Given the description of an element on the screen output the (x, y) to click on. 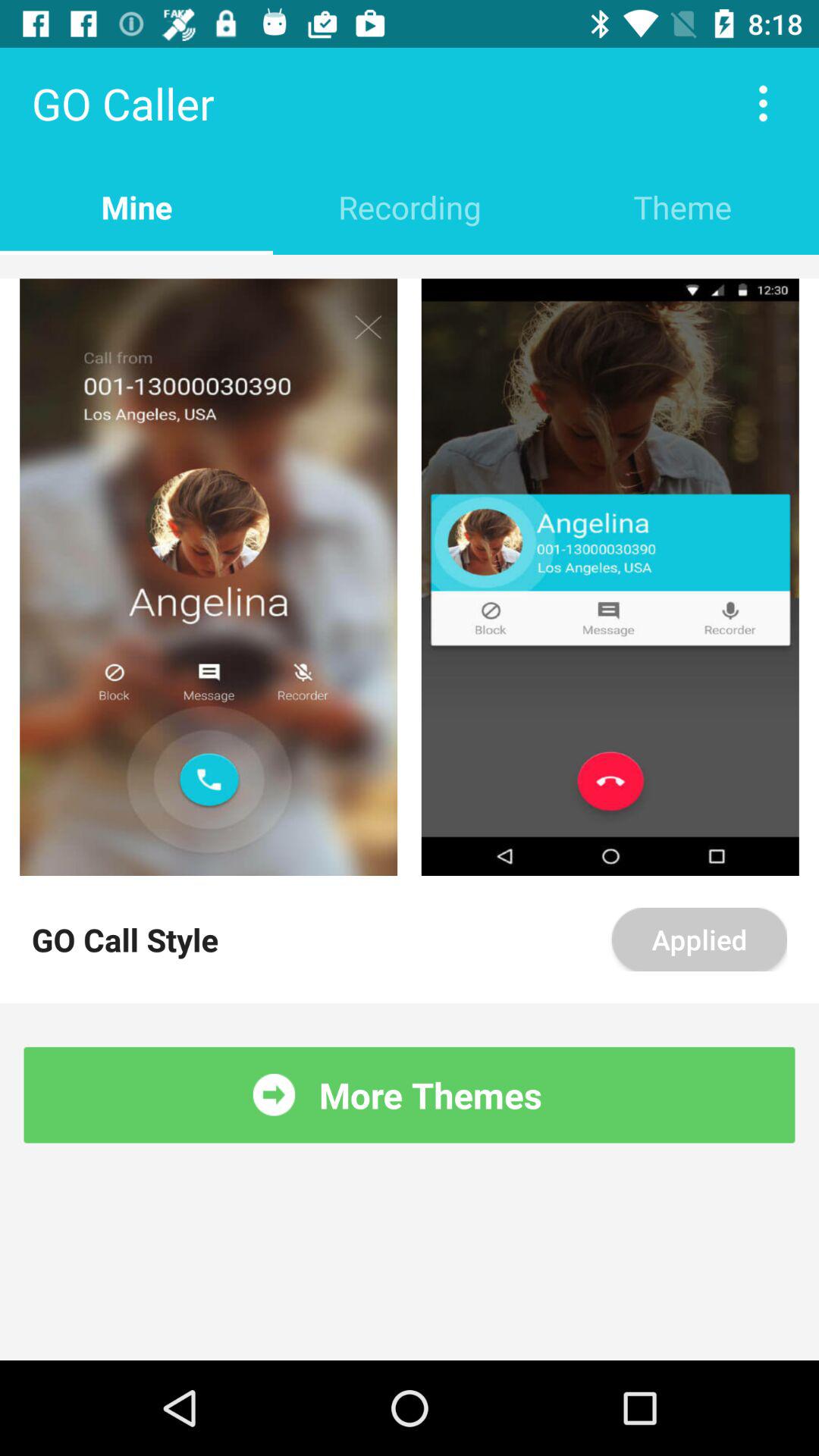
turn on icon to the left of theme item (409, 206)
